Given the description of an element on the screen output the (x, y) to click on. 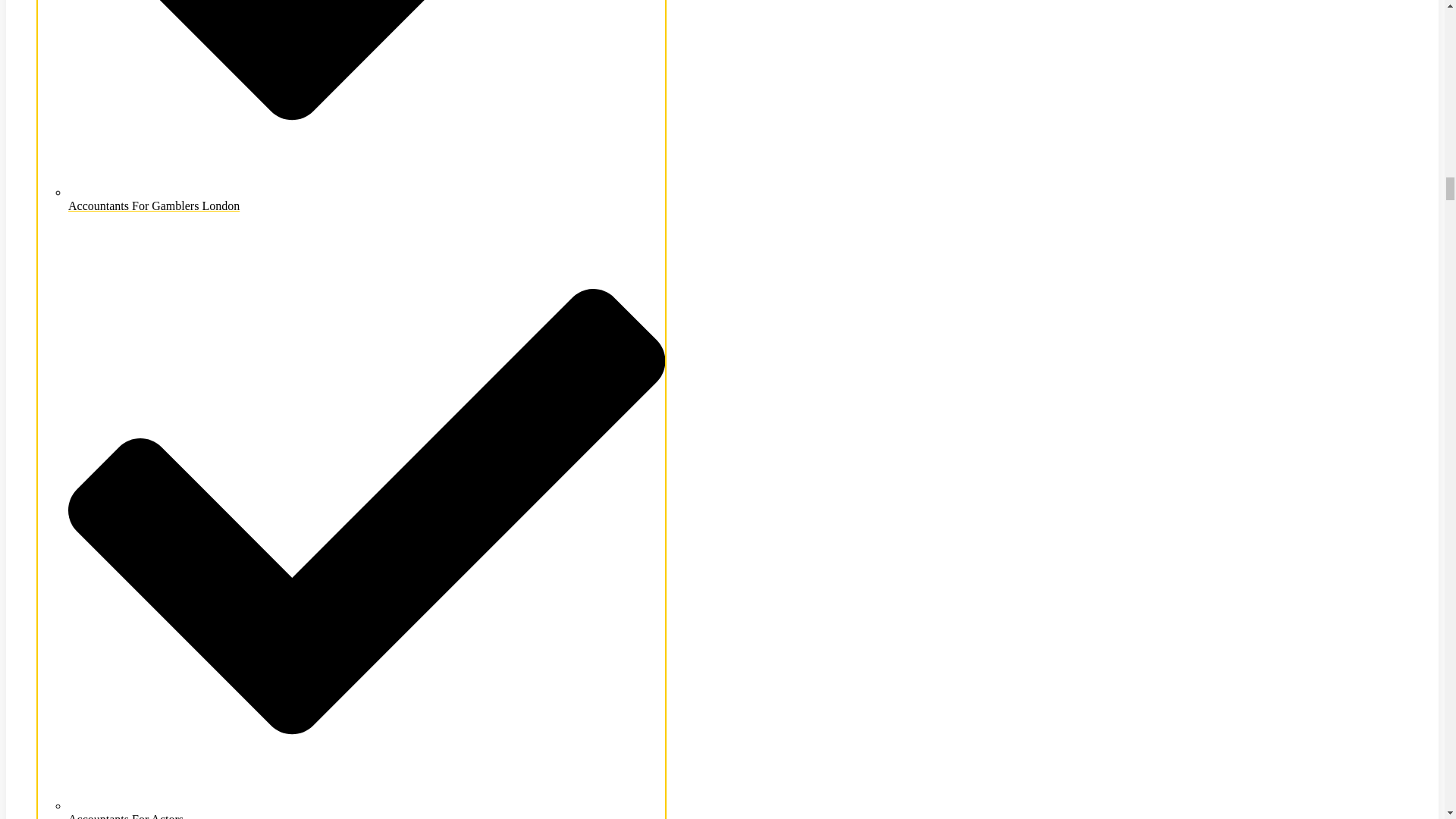
Accountants For Gamblers London (366, 198)
Accountants For Actors (366, 809)
